Given the description of an element on the screen output the (x, y) to click on. 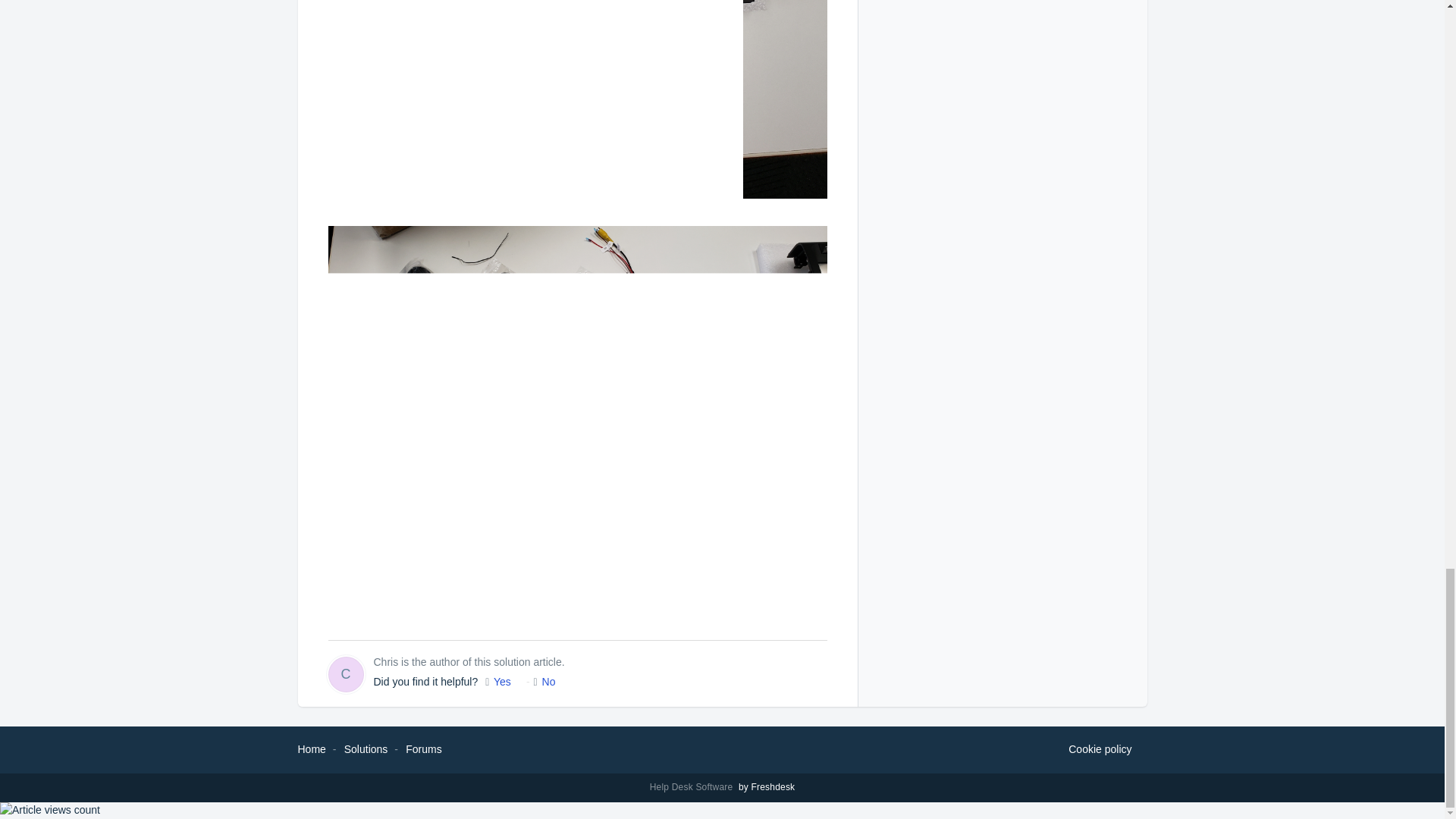
Forums (423, 748)
Cookie policy (1099, 750)
Help Desk Software (693, 787)
Home (310, 748)
Solutions (365, 748)
Why we love Cookies (1099, 750)
